Given the description of an element on the screen output the (x, y) to click on. 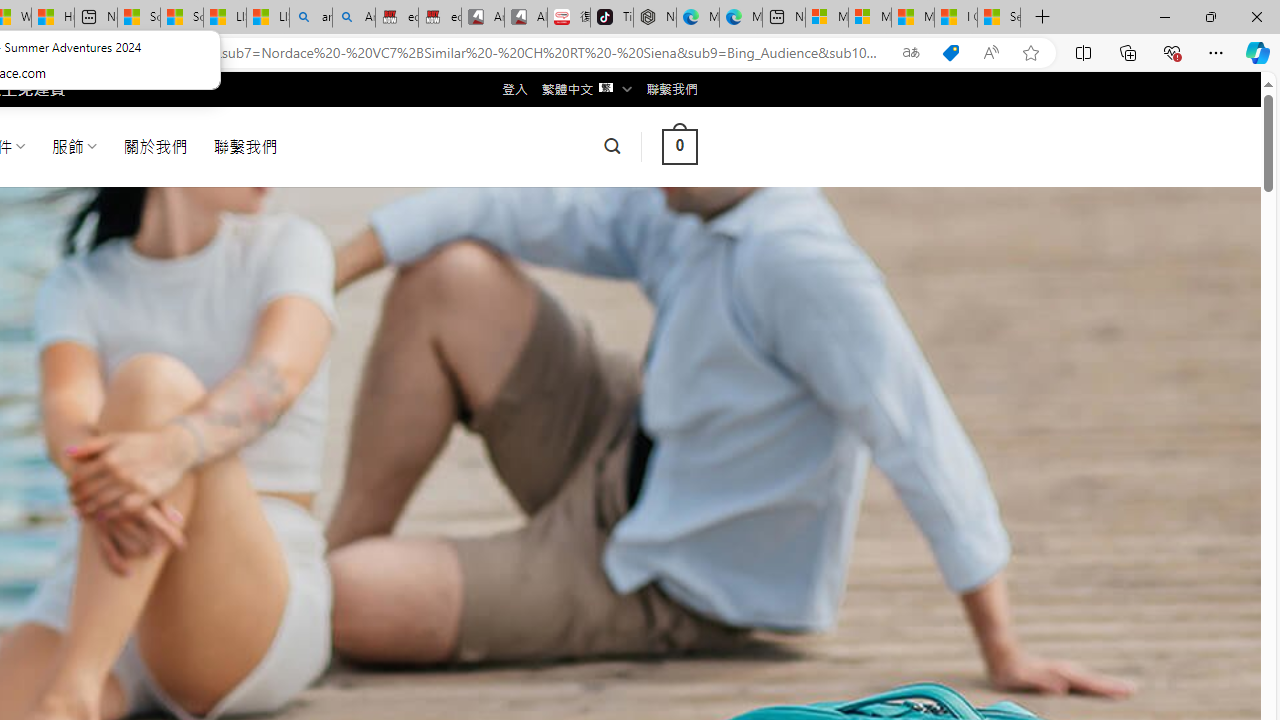
I Gained 20 Pounds of Muscle in 30 Days! | Watch (955, 17)
  0   (679, 146)
Amazon Echo Dot PNG - Search Images (353, 17)
Show translate options (910, 53)
All Cubot phones (525, 17)
